Given the description of an element on the screen output the (x, y) to click on. 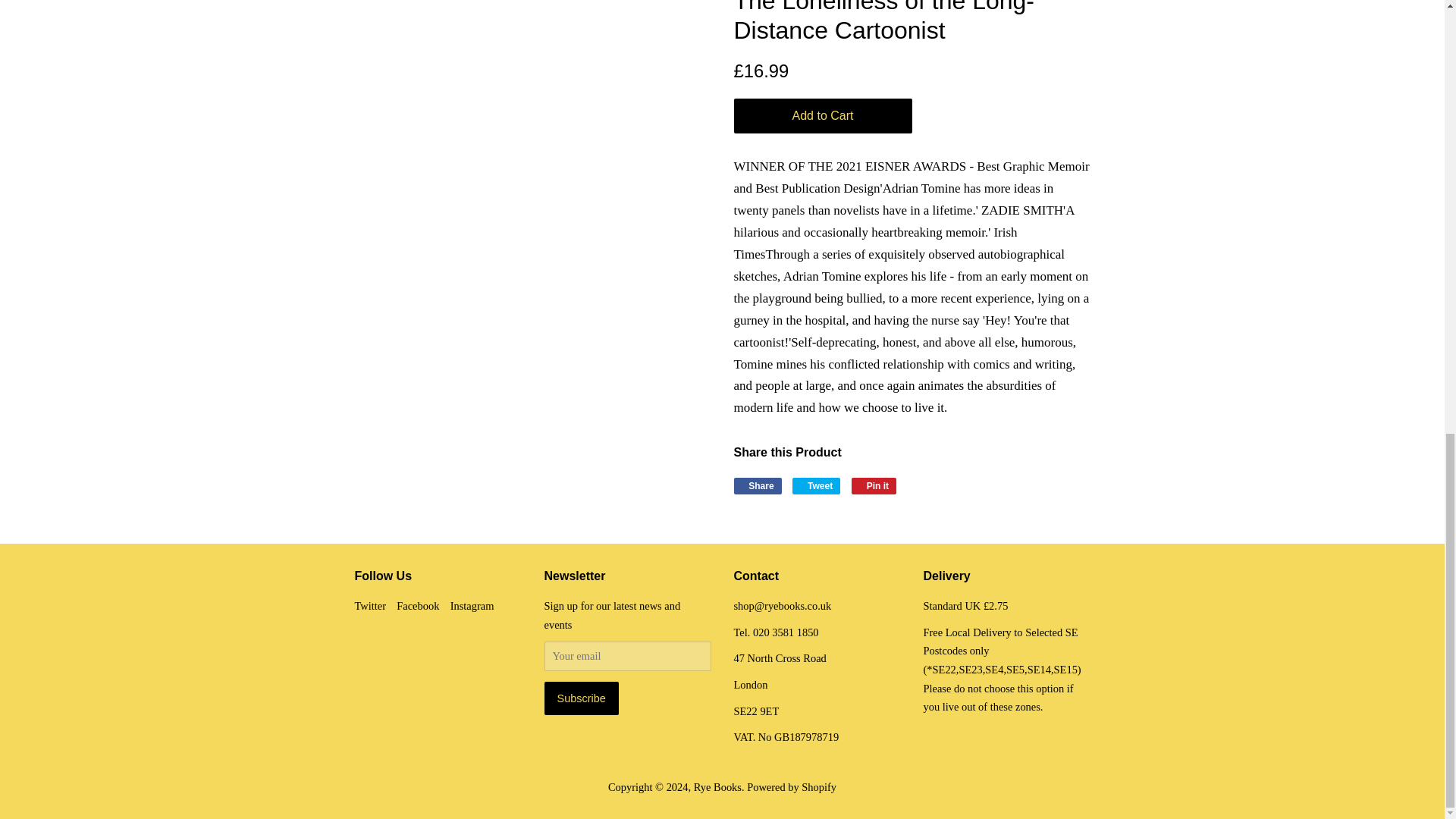
Rye Books on Instagram (472, 605)
Rye Books on Twitter (371, 605)
Pin on Pinterest (873, 485)
Tweet on Twitter (816, 485)
Subscribe (581, 697)
Share on Facebook (757, 485)
Rye Books on Facebook (417, 605)
